Given the description of an element on the screen output the (x, y) to click on. 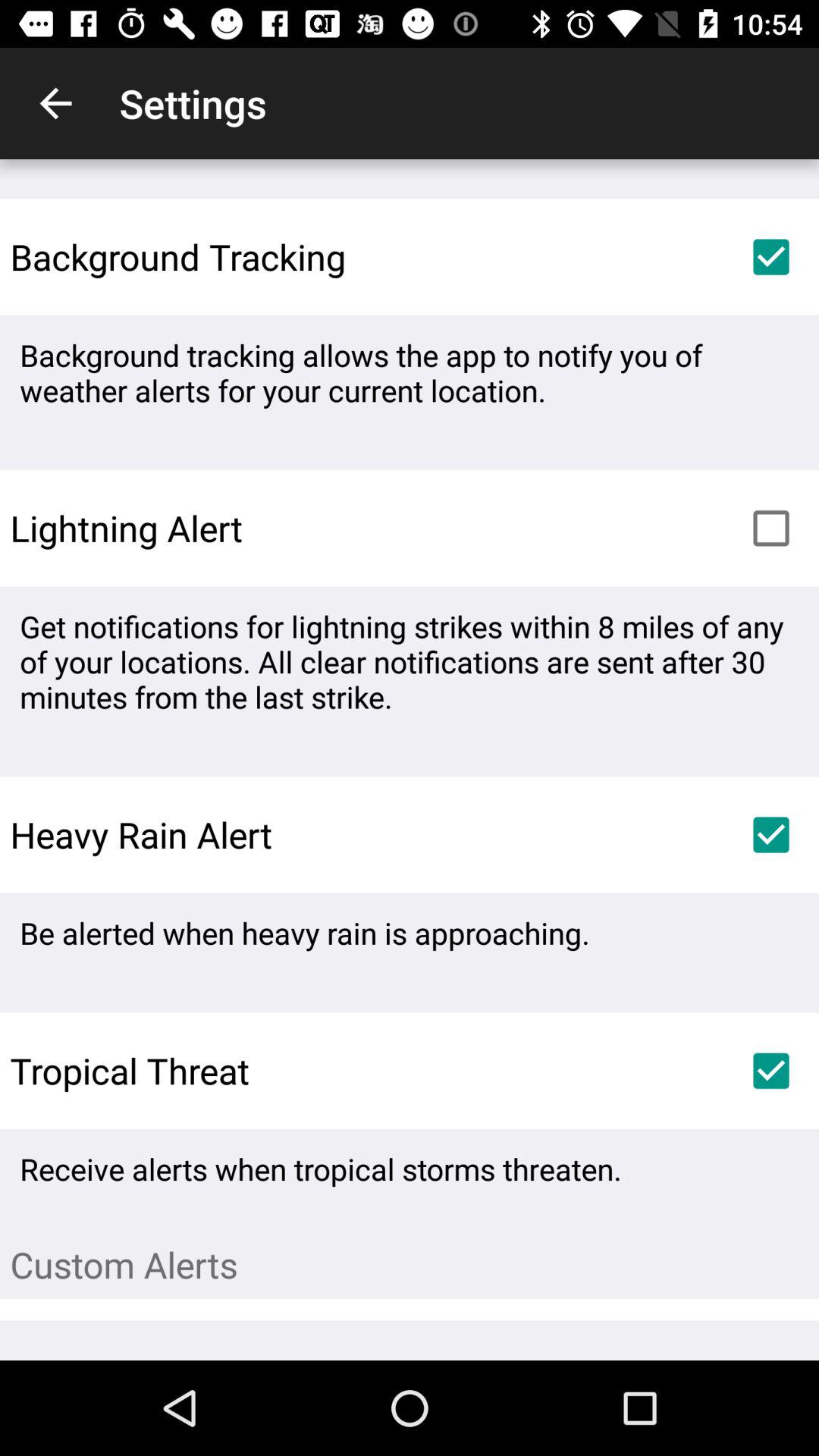
click the item to the left of the settings icon (55, 103)
